Given the description of an element on the screen output the (x, y) to click on. 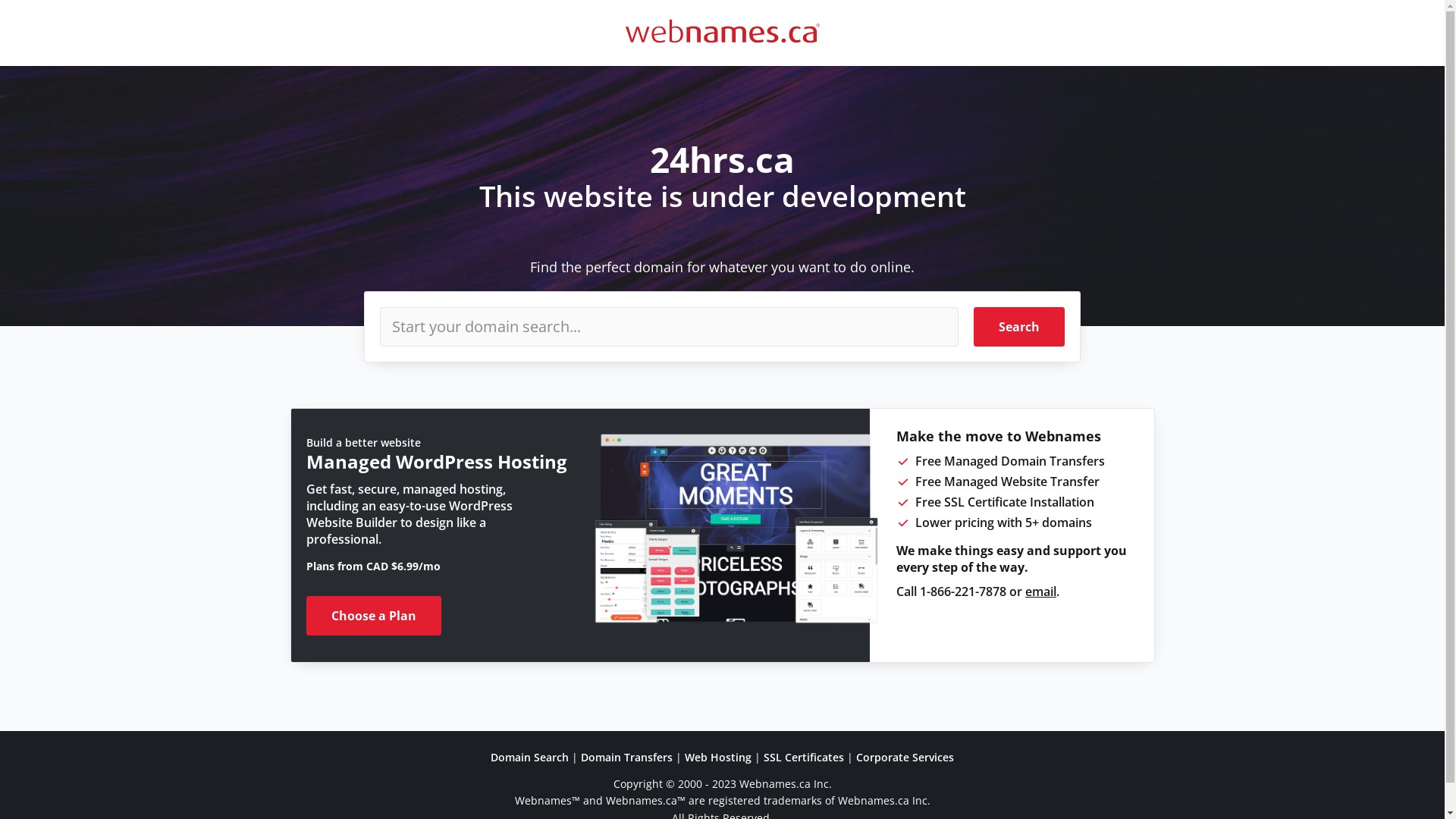
Search Element type: text (1018, 326)
Choose a Plan Element type: text (373, 615)
SSL Certificates Element type: text (803, 756)
Domain Search Element type: text (529, 756)
Corporate Services Element type: text (904, 756)
Web Hosting Element type: text (717, 756)
email Element type: text (1040, 591)
Domain Transfers Element type: text (626, 756)
1-866-221-7878 Element type: text (962, 591)
